Given the description of an element on the screen output the (x, y) to click on. 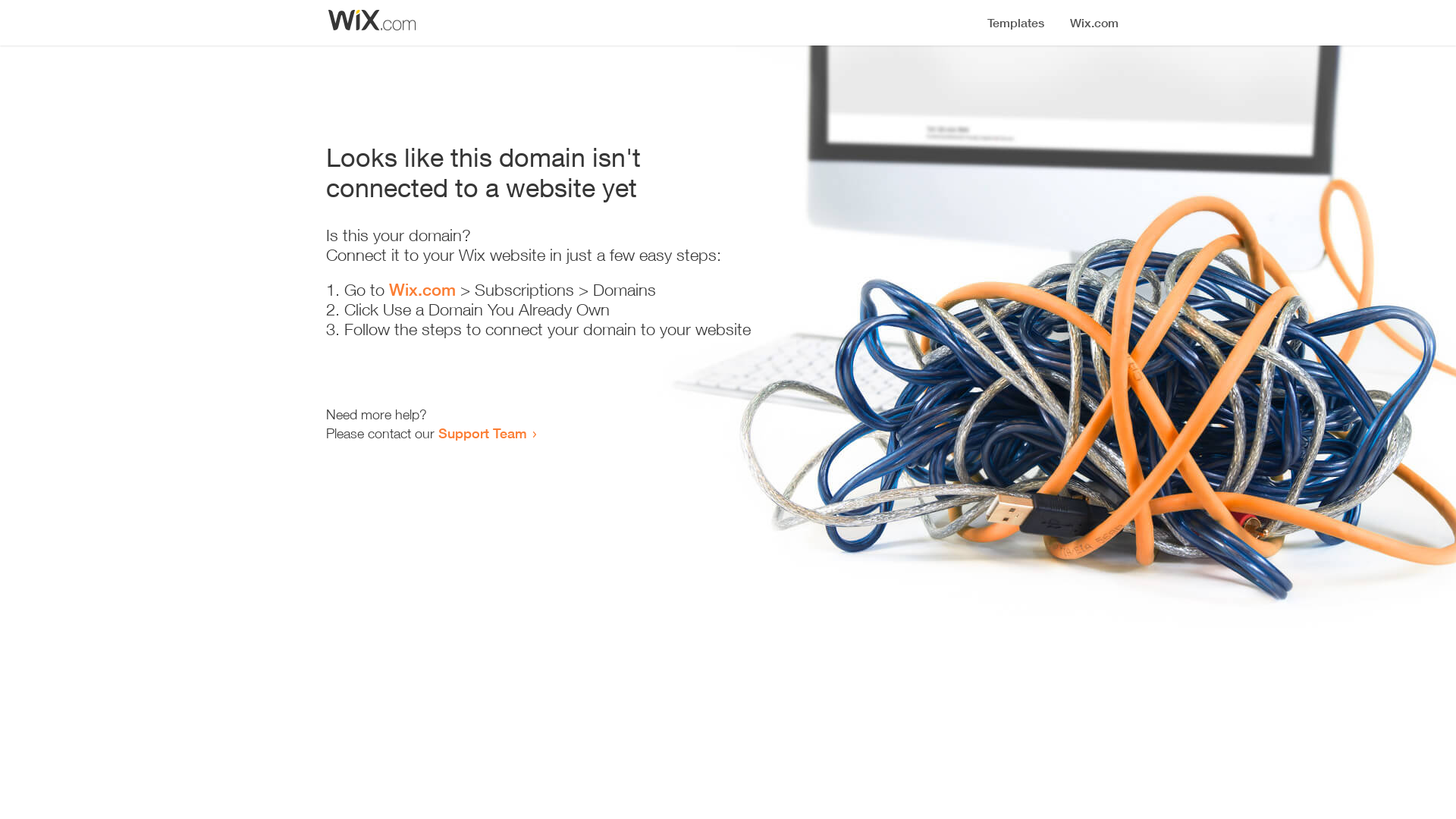
Wix.com Element type: text (422, 289)
Support Team Element type: text (482, 432)
